Given the description of an element on the screen output the (x, y) to click on. 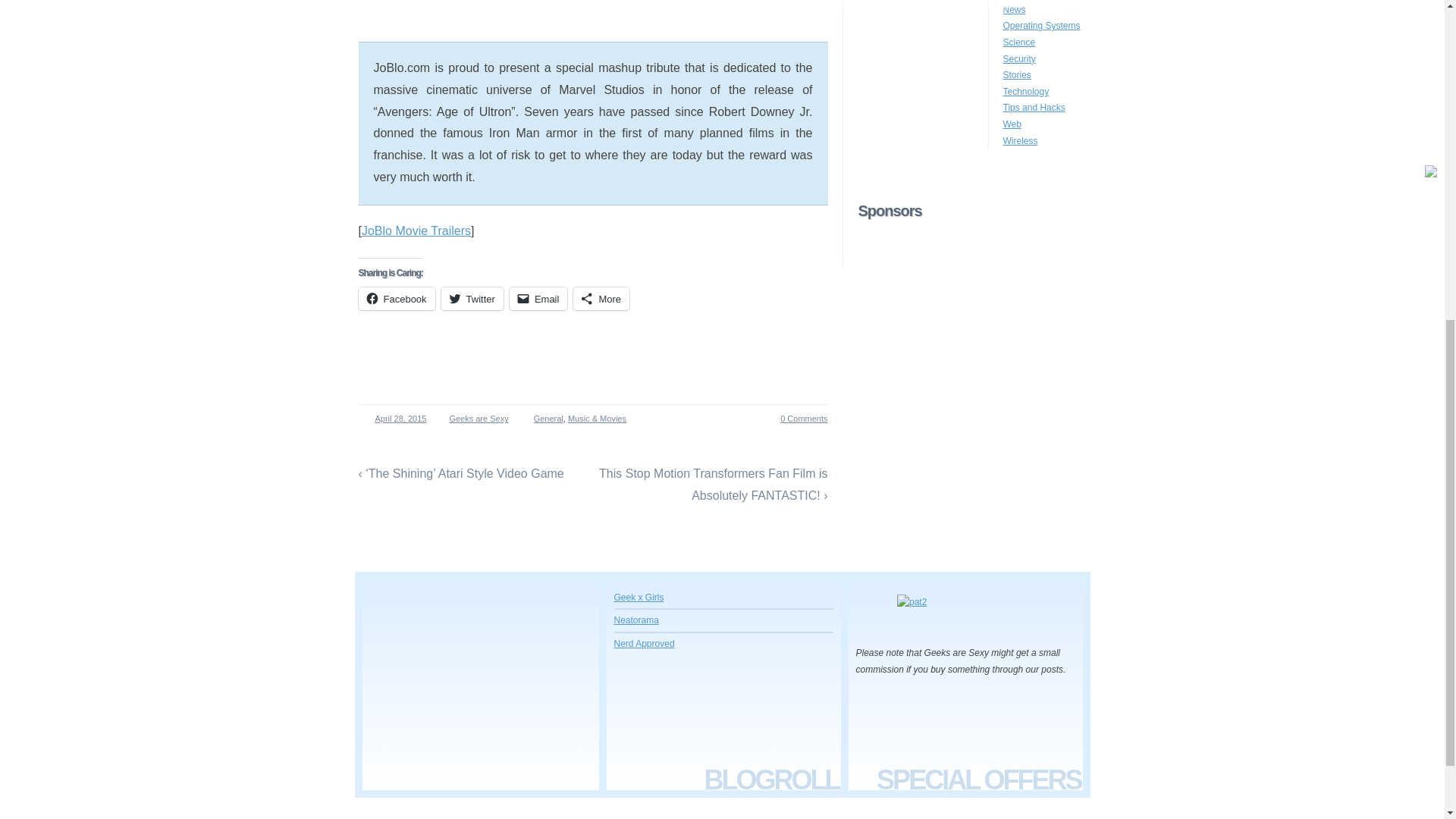
Email (538, 298)
More (600, 298)
Geeks are Sexy (474, 418)
JoBlo Movie Trailers (415, 230)
April 28, 2015 (395, 418)
General (548, 418)
Twitter (472, 298)
0 Comments (794, 418)
Facebook (395, 298)
